Given the description of an element on the screen output the (x, y) to click on. 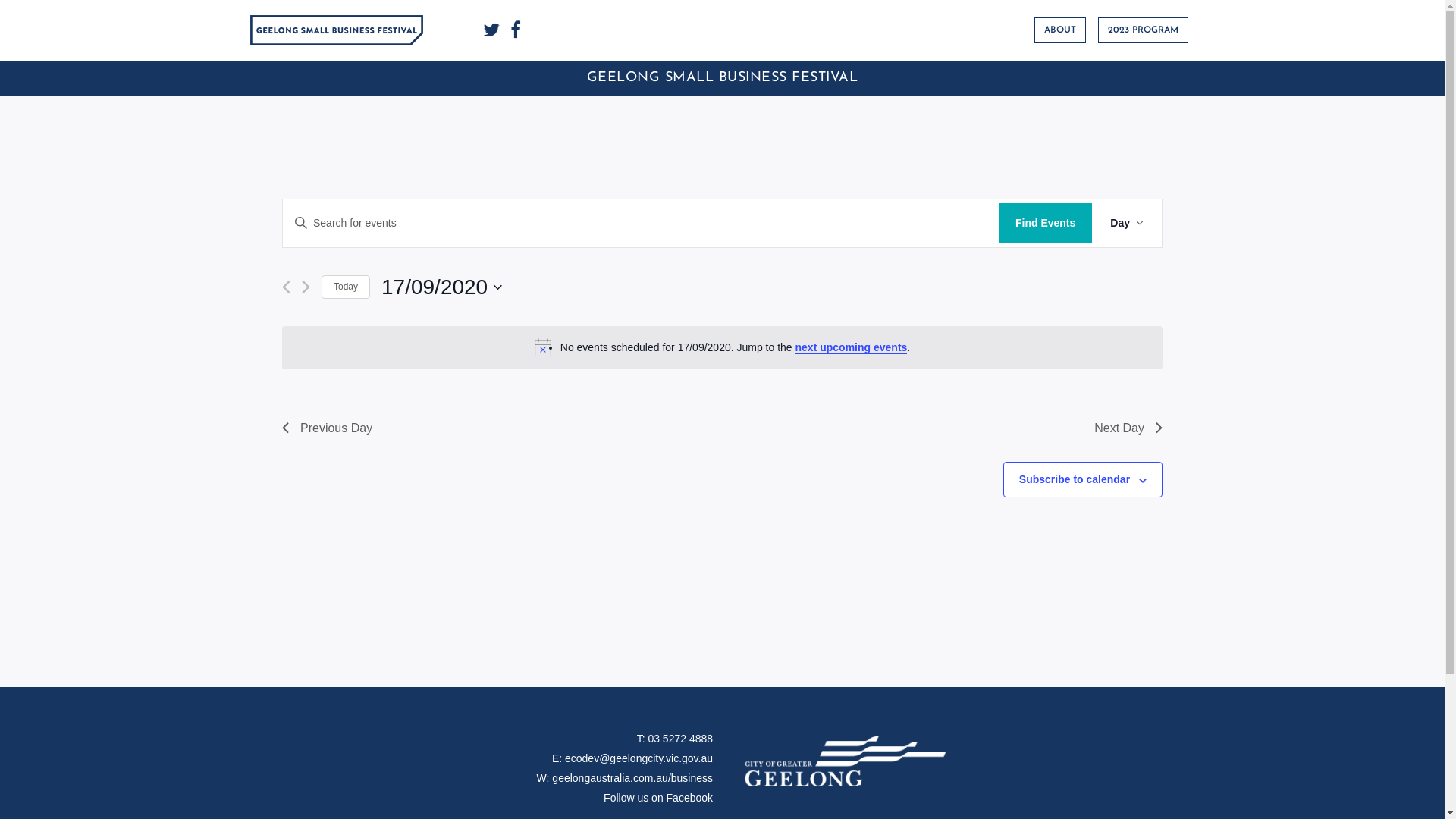
Follow us on Facebook Element type: text (657, 797)
ecodev@geelongcity.vic.gov.au Element type: text (638, 758)
geelongaustralia.com.au/business Element type: text (632, 777)
Next Day Element type: text (1128, 428)
Find Events Element type: text (1045, 223)
ABOUT Element type: text (1059, 30)
17/09/2020 Element type: text (441, 287)
03 5272 4888 Element type: text (679, 738)
Previous Day Element type: text (327, 428)
Subscribe to calendar Element type: text (1074, 479)
2023 PROGRAM Element type: text (1143, 30)
Previous day Element type: hover (286, 286)
TWITTER Element type: text (491, 29)
next upcoming events Element type: text (851, 347)
Today Element type: text (345, 286)
FACEBOOK Element type: text (515, 29)
Day Element type: text (1126, 223)
Next day Element type: hover (305, 286)
